Given the description of an element on the screen output the (x, y) to click on. 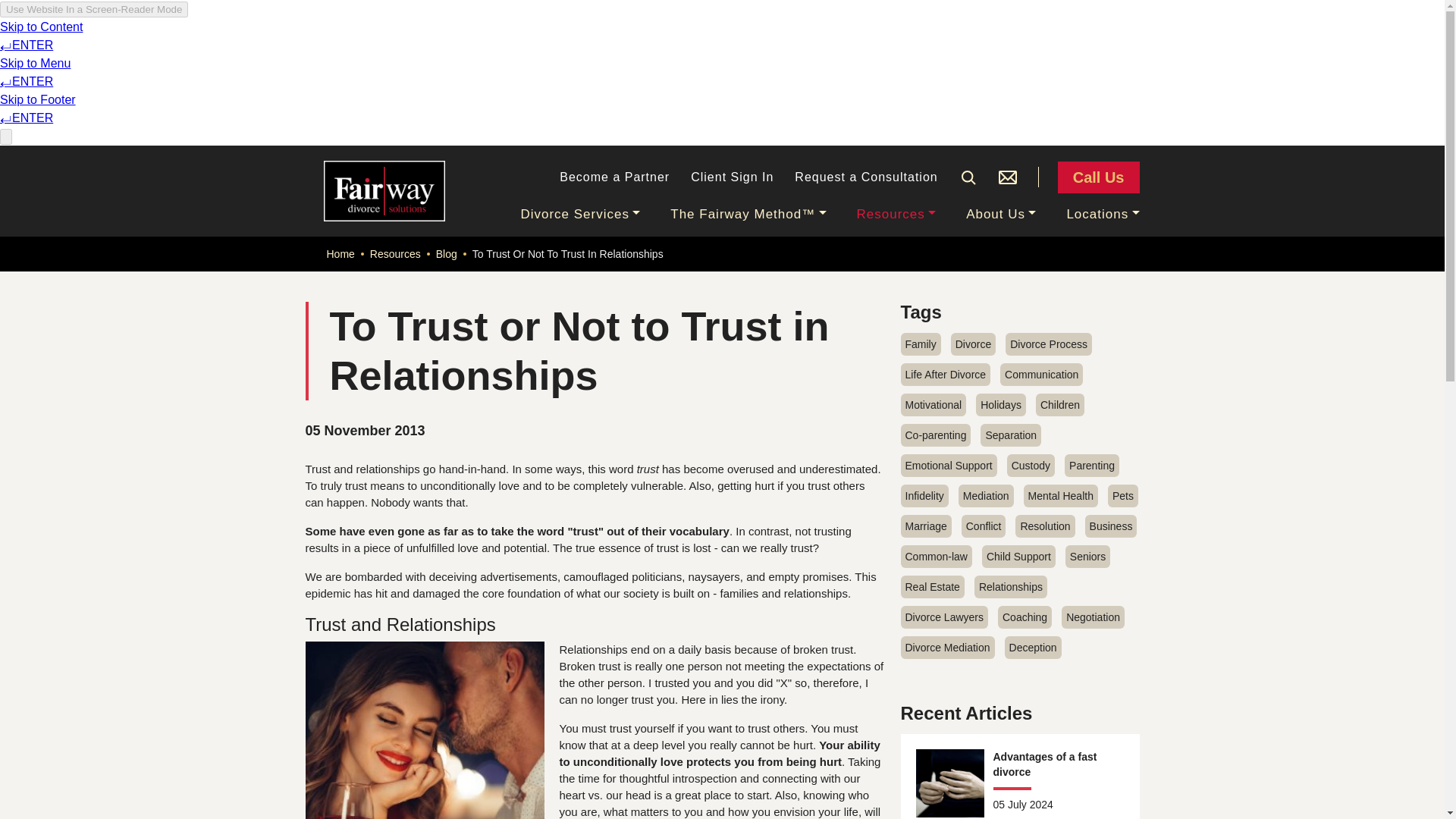
About Us (1000, 214)
Become a Partner (614, 177)
Call Us (1099, 177)
Divorce Services (579, 214)
Locations (1101, 214)
Resources (896, 214)
Client Sign In (731, 177)
Request a Consultation (865, 177)
